Given the description of an element on the screen output the (x, y) to click on. 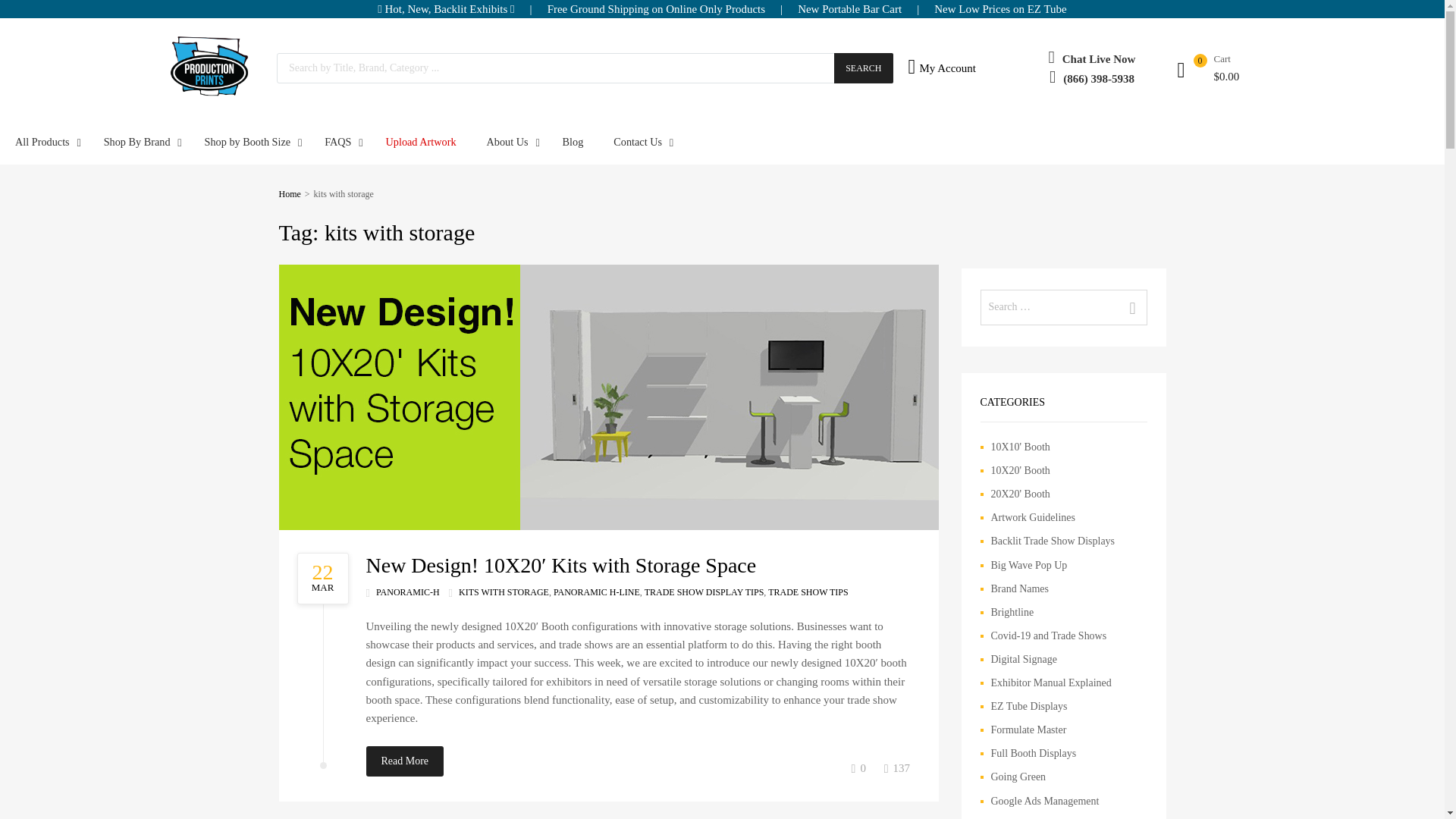
All Products (44, 141)
New Low Prices on EZ Tube (1000, 9)
My Account (934, 67)
New Portable Bar Cart (849, 9)
Click here to read more (326, 578)
Free Ground Shipping on Online Only Products (656, 9)
Production Prints (210, 92)
Chat Live Now (1098, 59)
SEARCH (863, 68)
